Given the description of an element on the screen output the (x, y) to click on. 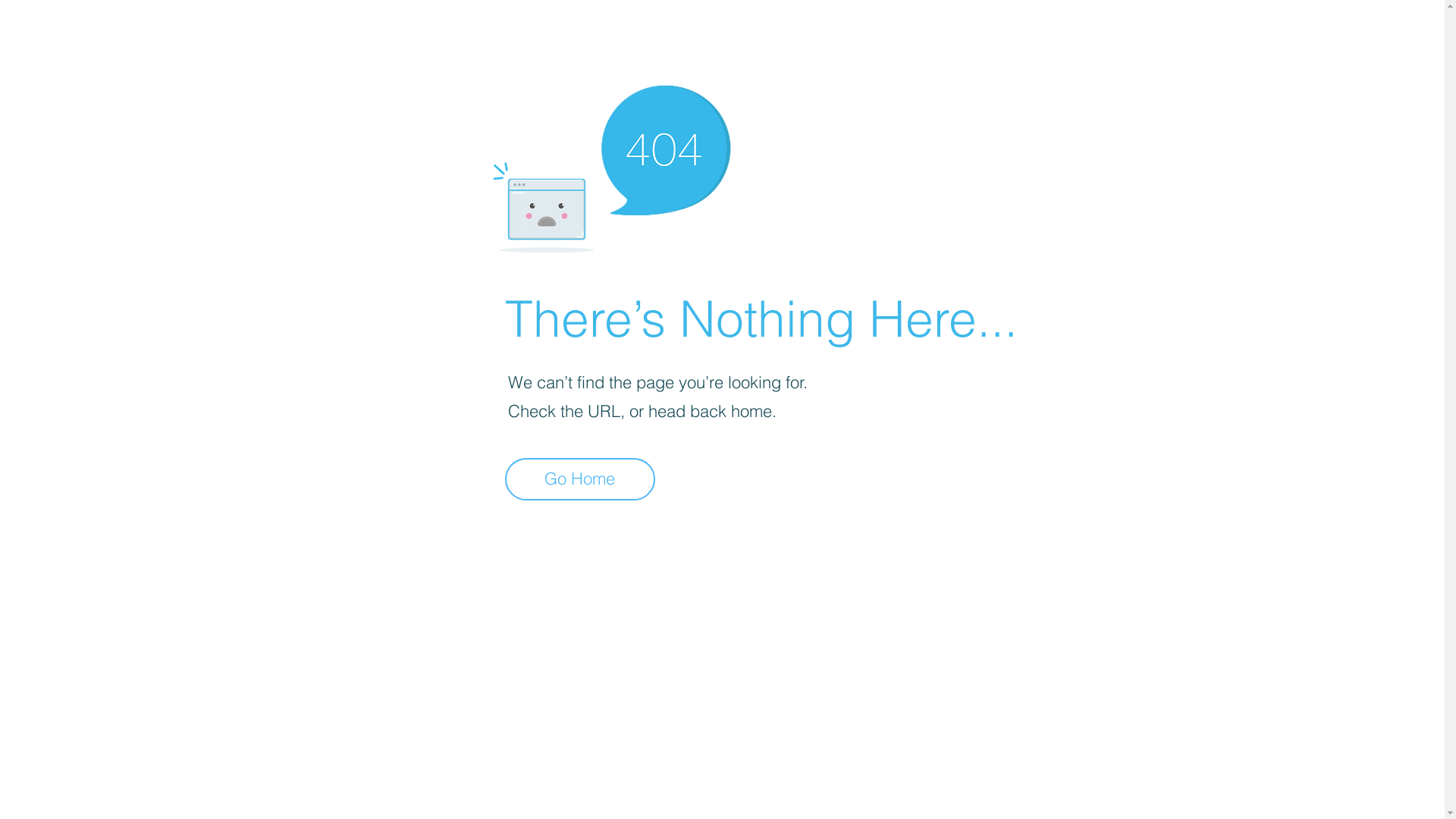
404-icon_2.png Element type: hover (610, 164)
Go Home Element type: text (580, 479)
